Given the description of an element on the screen output the (x, y) to click on. 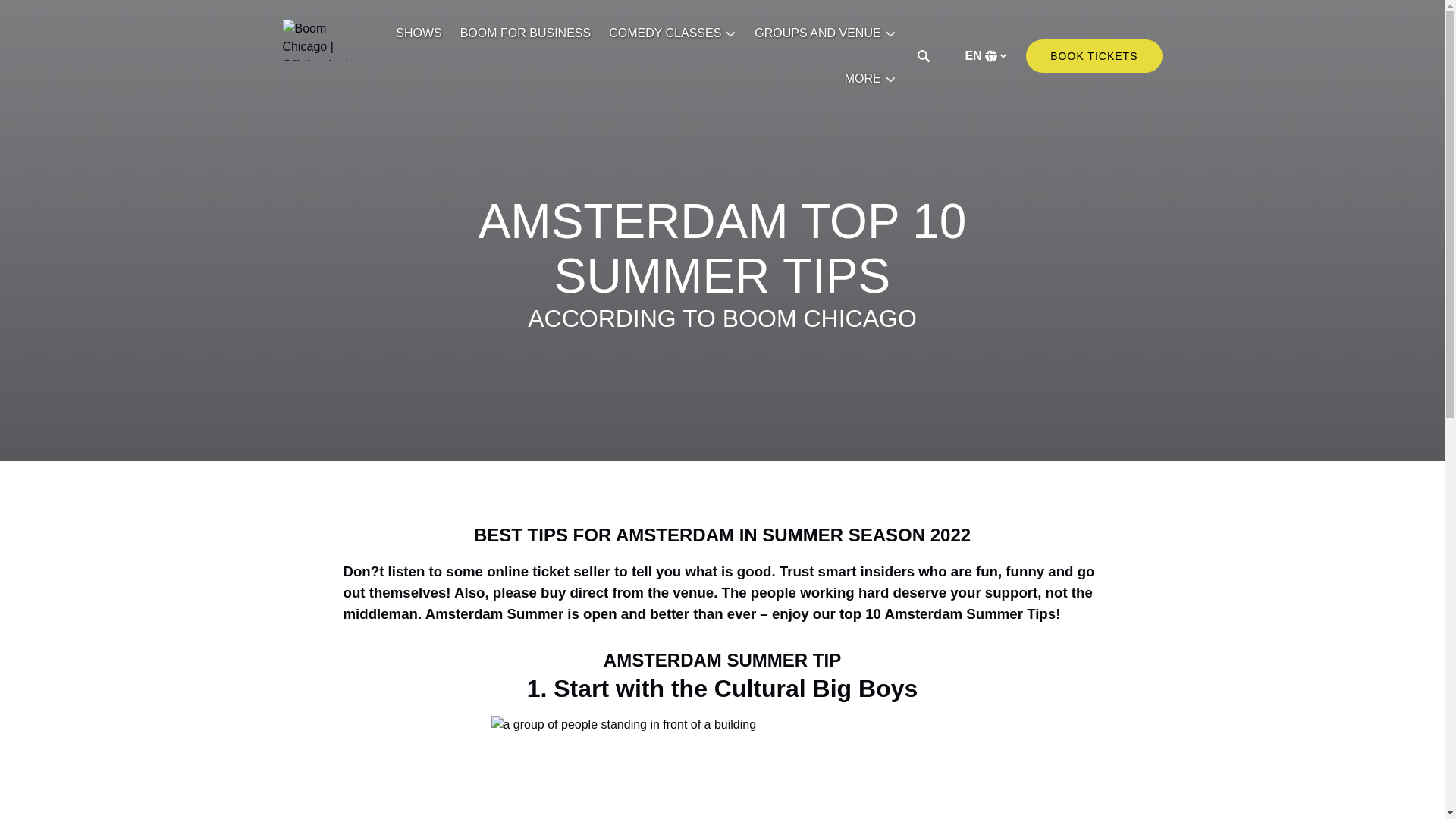
Open More Menu (874, 74)
Skip to footer (42, 16)
BOOM FOR BUSINESS (525, 33)
Open GROUPS AND VENUE Menu (828, 29)
Open COMEDY CLASSES Menu (676, 29)
COMEDY CLASSES (672, 33)
Skip to primary navigation (77, 16)
SHOWS (418, 33)
Skip to content (47, 16)
GROUPS AND VENUE (824, 33)
